Given the description of an element on the screen output the (x, y) to click on. 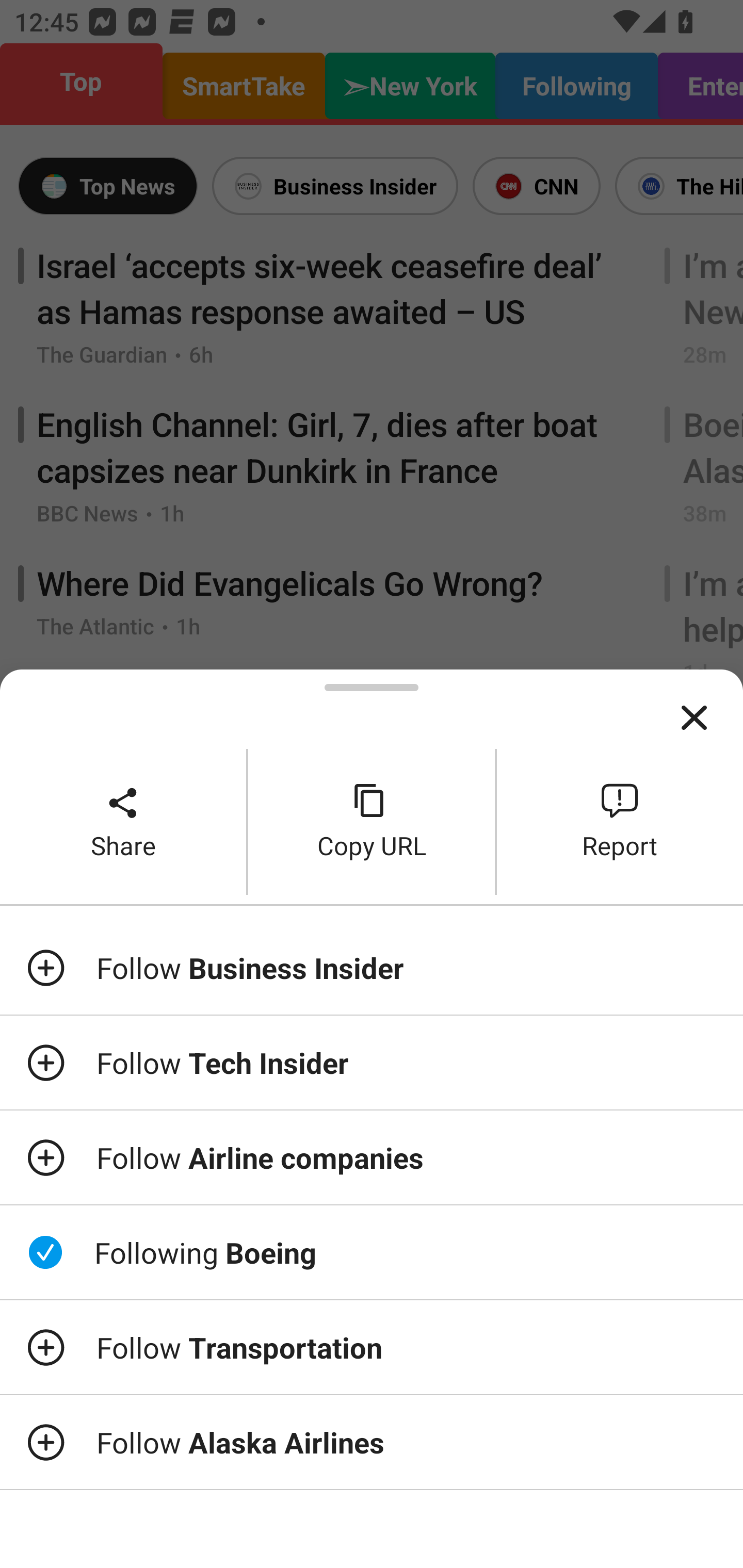
Close (694, 717)
Share (122, 822)
Copy URL (371, 822)
Report (620, 822)
Follow Business Insider (371, 967)
Follow Tech Insider (371, 1063)
Follow Airline companies (371, 1157)
Following Boeing (371, 1252)
Follow Transportation (371, 1346)
Follow Alaska Airlines (371, 1442)
